Given the description of an element on the screen output the (x, y) to click on. 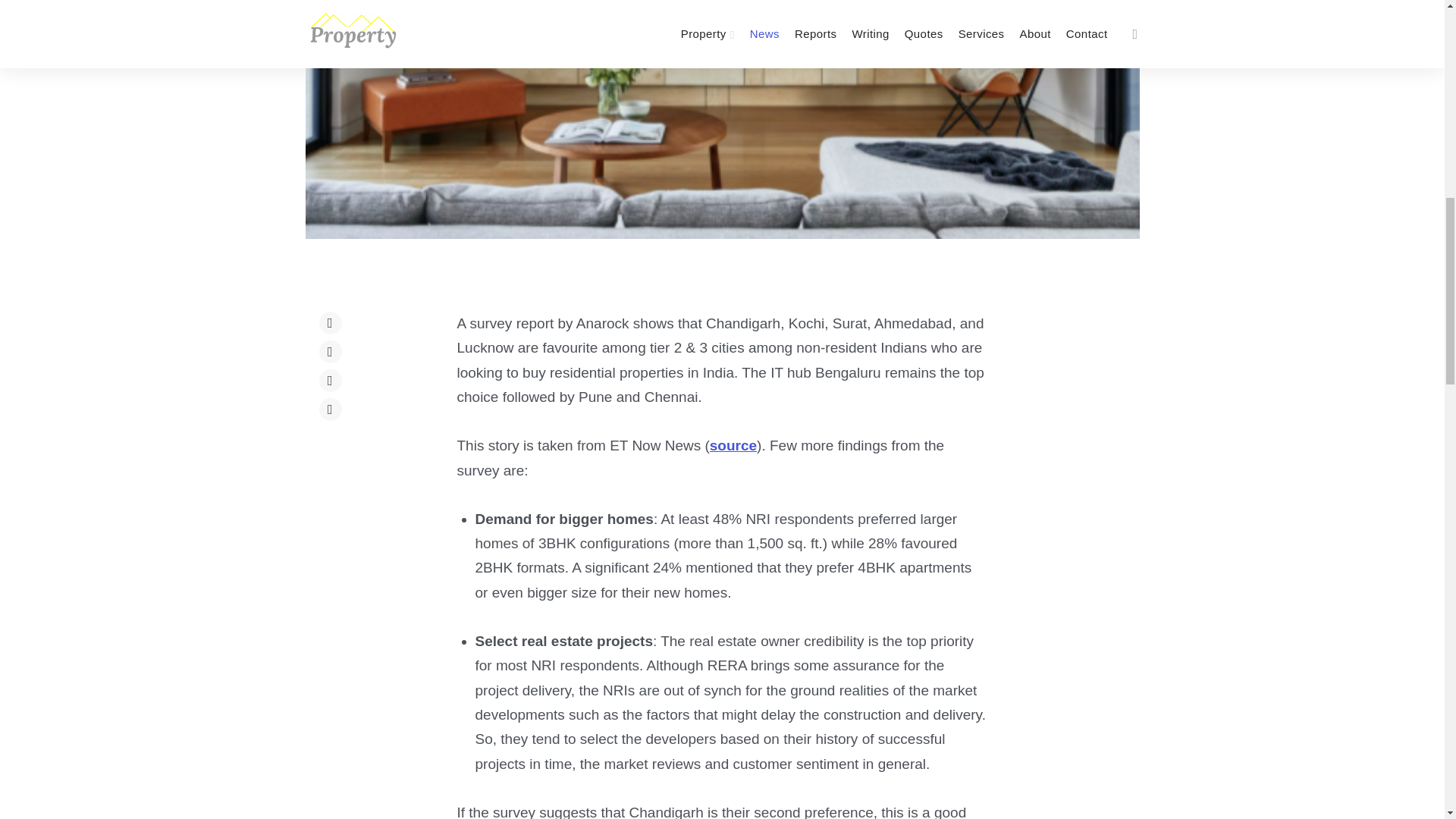
source (733, 445)
